Given the description of an element on the screen output the (x, y) to click on. 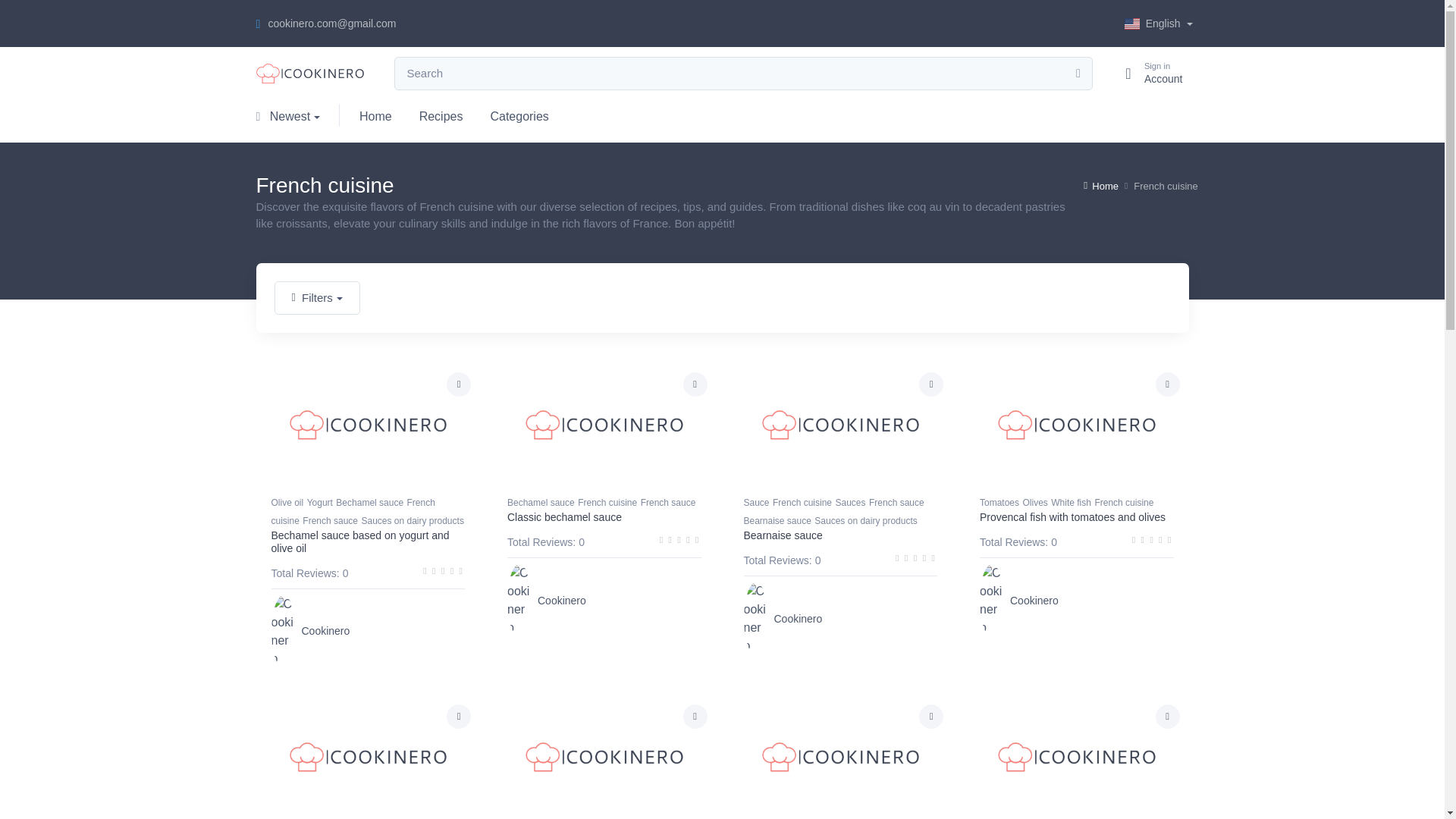
Add to wishlist (1146, 73)
English (694, 384)
Add to wishlist (1156, 23)
Add to wishlist (694, 716)
Add to wishlist (930, 384)
Home (458, 384)
Add to wishlist (376, 115)
Recipes (1167, 384)
Newest (441, 115)
Add to wishlist (294, 115)
